Given the description of an element on the screen output the (x, y) to click on. 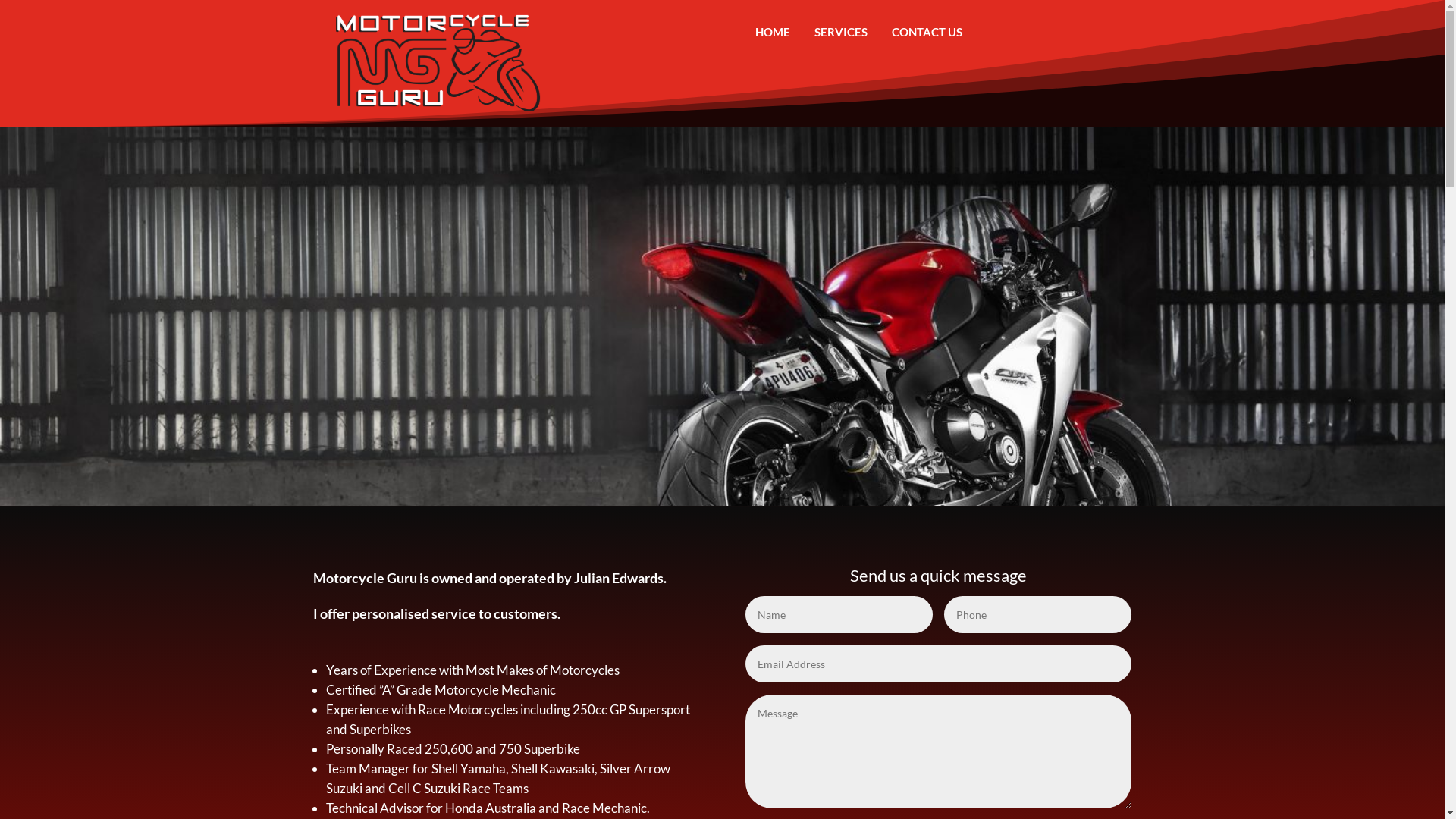
SERVICES Element type: text (840, 31)
CONTACT US Element type: text (926, 31)
HOME Element type: text (772, 31)
